Given the description of an element on the screen output the (x, y) to click on. 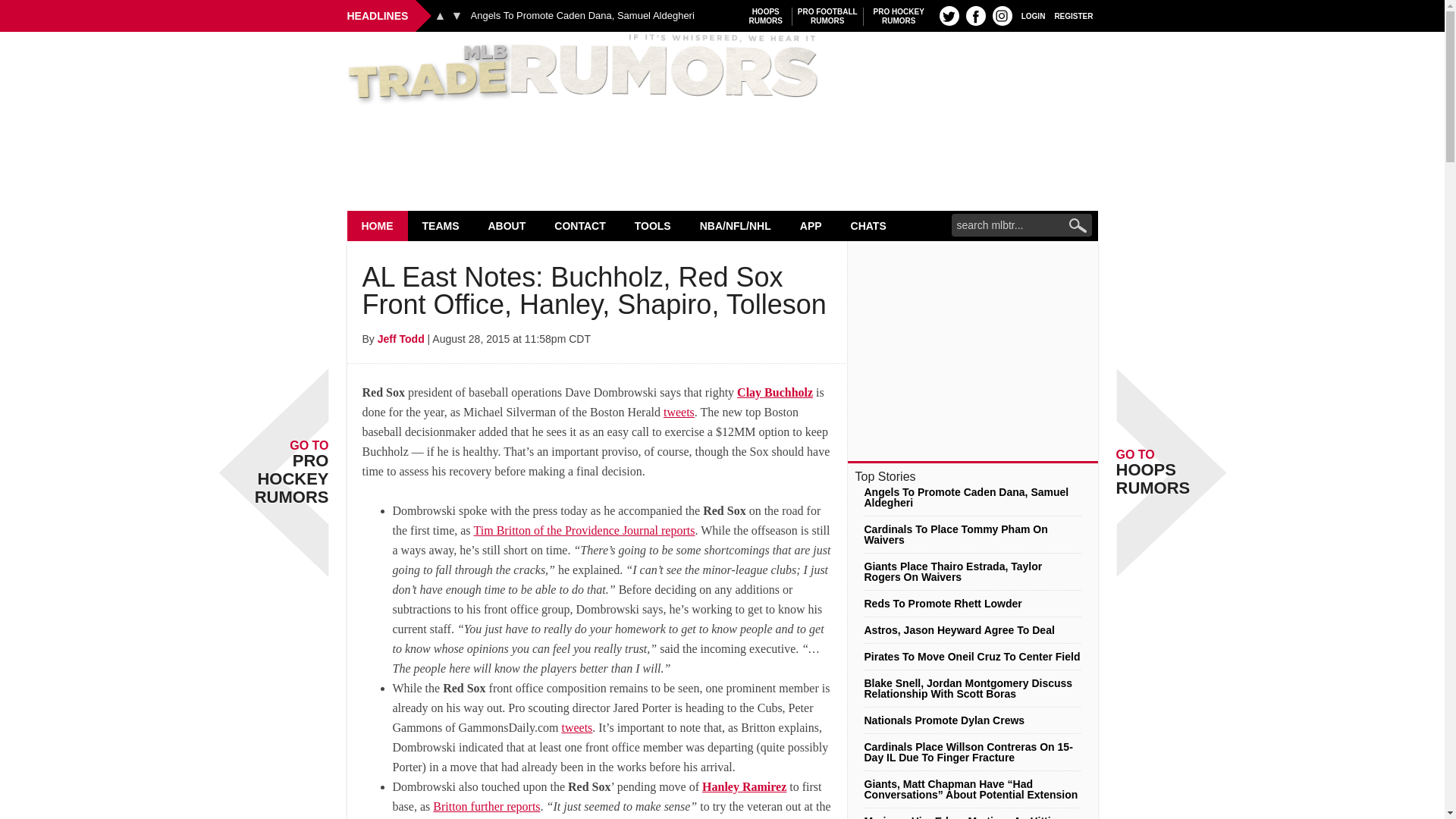
Next (456, 15)
Angels To Promote Caden Dana, Samuel Aldegheri (582, 15)
HOME (377, 225)
TEAMS (898, 16)
MLB Trade Rumors (440, 225)
Twitter profile (765, 16)
Previous (722, 69)
REGISTER (949, 15)
